Given the description of an element on the screen output the (x, y) to click on. 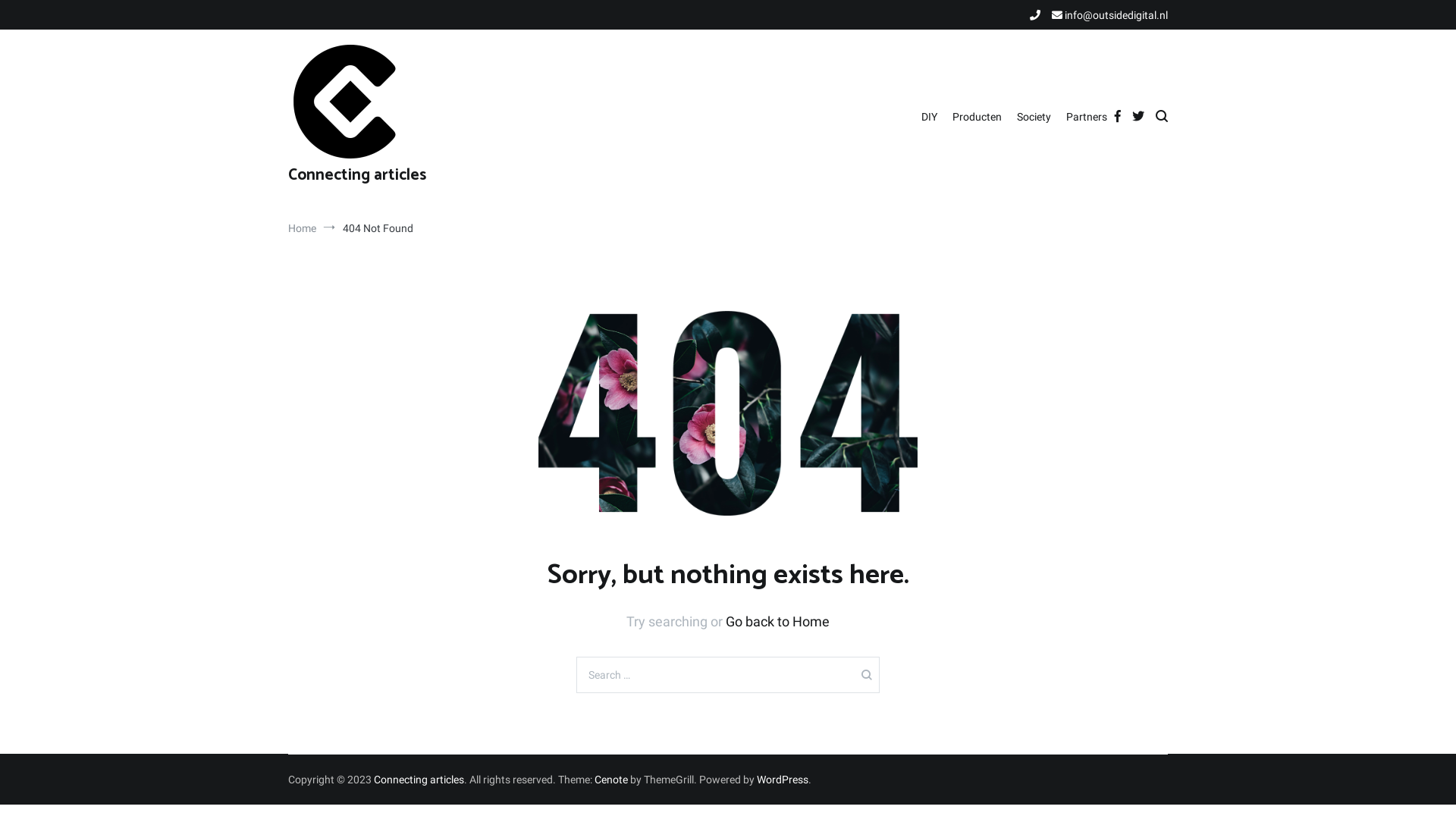
Home Element type: text (302, 228)
Go back to Home Element type: text (777, 621)
WordPress Element type: text (782, 779)
Cenote Element type: text (610, 779)
Partners Element type: text (1086, 117)
Search Element type: text (37, 20)
info@outsidedigital.nl Element type: text (1109, 15)
Society Element type: text (1033, 117)
Search Element type: text (41, 16)
Connecting articles Element type: text (357, 175)
DIY Element type: text (929, 117)
Producten Element type: text (976, 117)
Connecting articles Element type: text (418, 779)
